Given the description of an element on the screen output the (x, y) to click on. 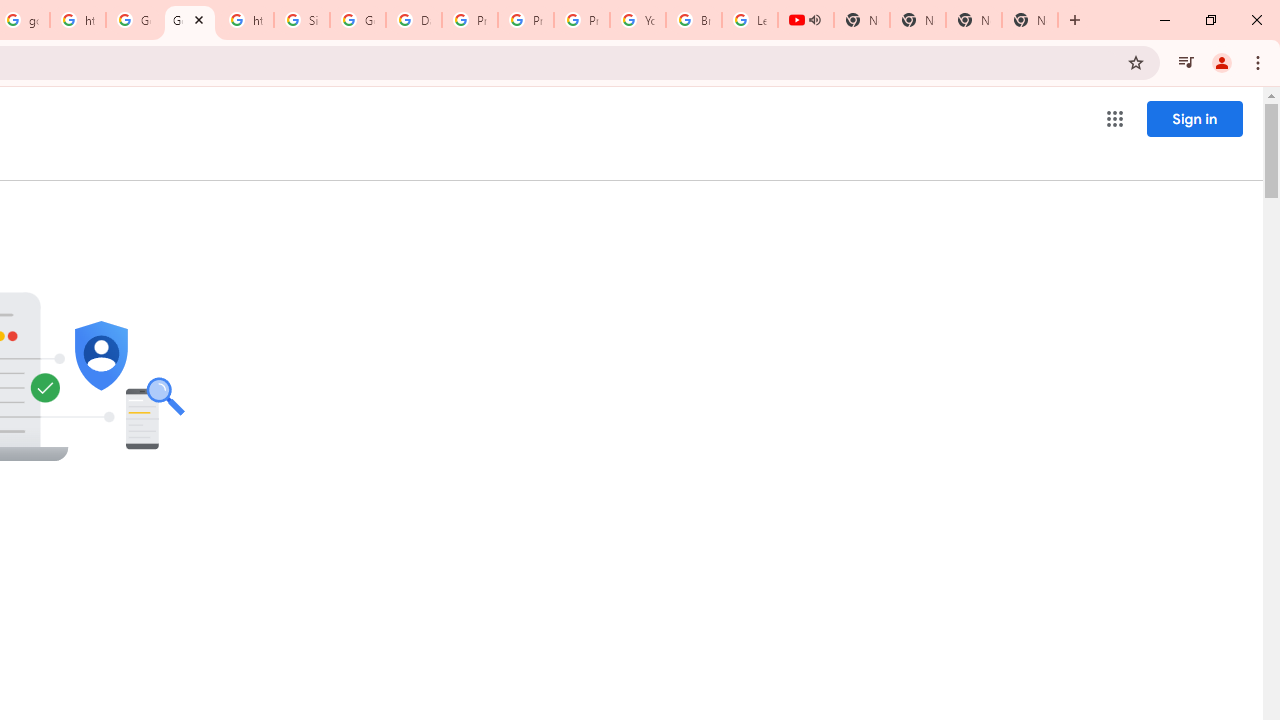
Control your music, videos, and more (1185, 62)
https://scholar.google.com/ (245, 20)
https://scholar.google.com/ (77, 20)
Privacy Help Center - Policies Help (469, 20)
Browse Chrome as a guest - Computer - Google Chrome Help (693, 20)
